Given the description of an element on the screen output the (x, y) to click on. 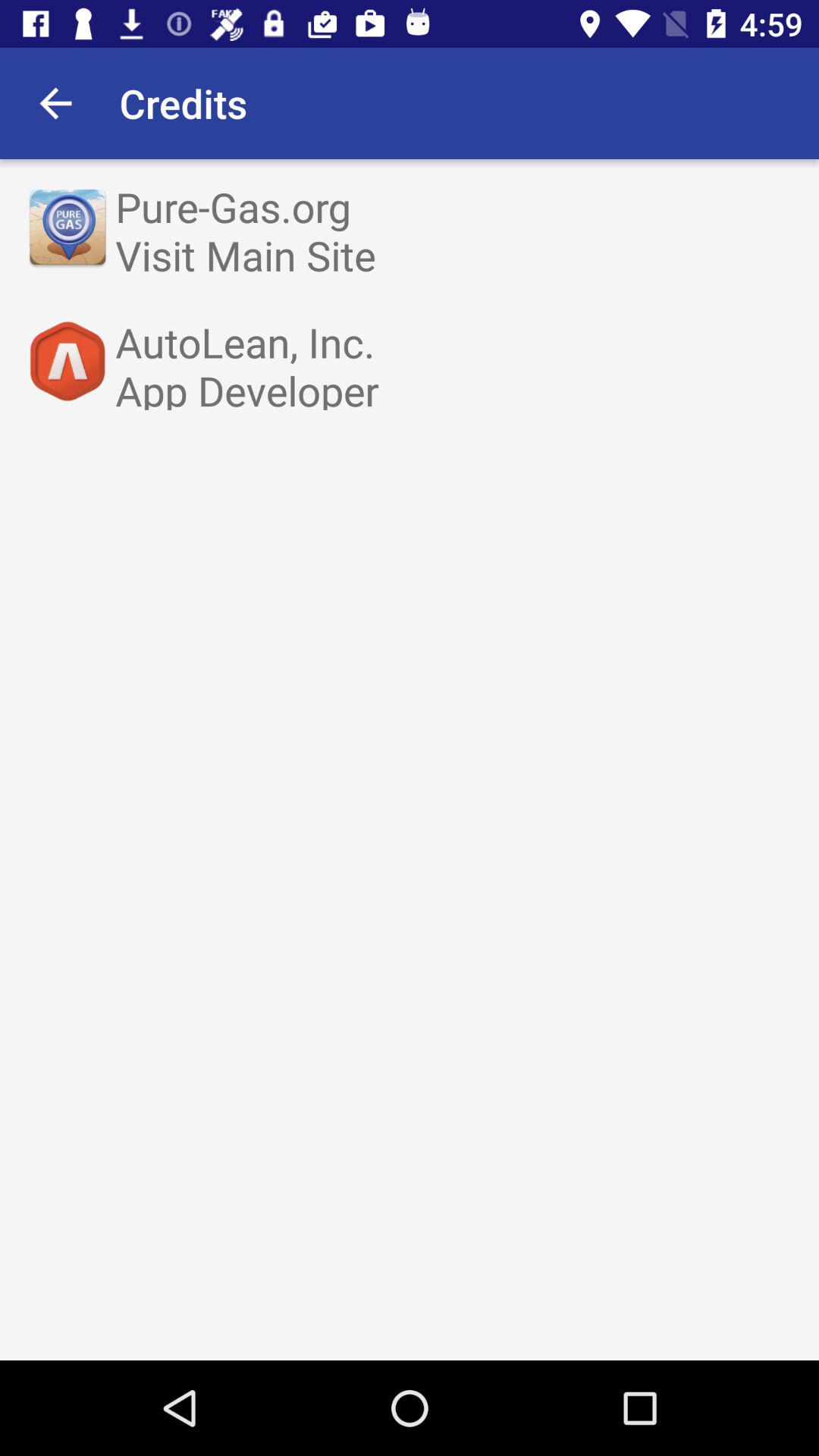
launch item to the left of the credits item (55, 103)
